Given the description of an element on the screen output the (x, y) to click on. 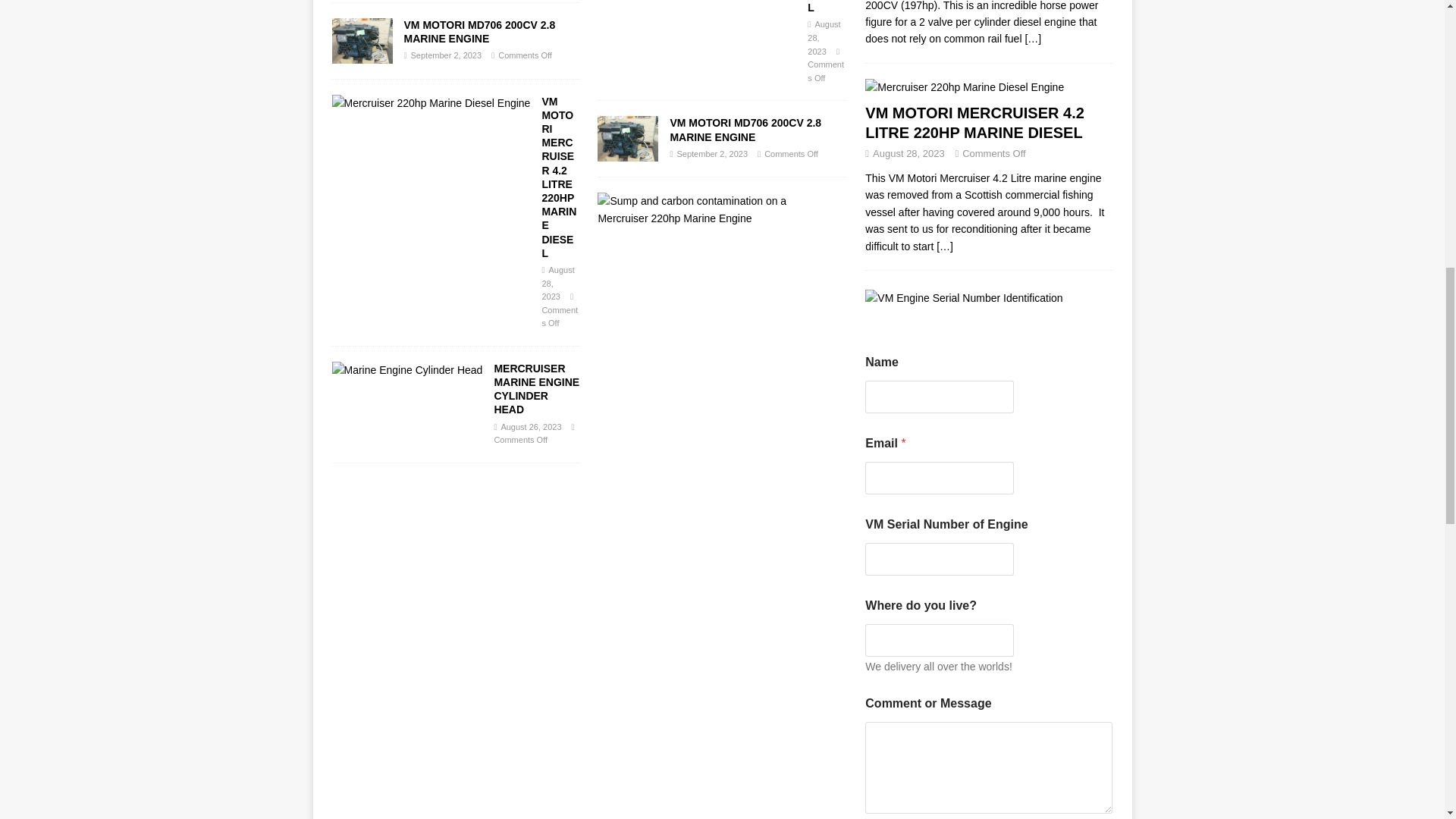
August 28, 2023 (557, 283)
MERCRUISER MARINE ENGINE CYLINDER HEAD (536, 389)
VM MOTORI MD706 200CV 2.8 MARINE ENGINE (745, 129)
September 2, 2023 (445, 54)
VM MOTORI MD706 200CV 2.8 MARINE ENGINE (362, 40)
MERCRUISER MARINE ENGINE CYLINDER HEAD (536, 389)
VM MOTORI MD706 200CV 2.8 MARINE ENGINE (478, 31)
VM MOTORI MD706 200CV 2.8 MARINE ENGINE (627, 138)
VM MOTORI MERCRUISER 4.2 LITRE 220HP MARINE DIESEL (825, 6)
VM MOTORI MERCRUISER 4.2 LITRE 220HP MARINE DIESEL (825, 6)
